Given the description of an element on the screen output the (x, y) to click on. 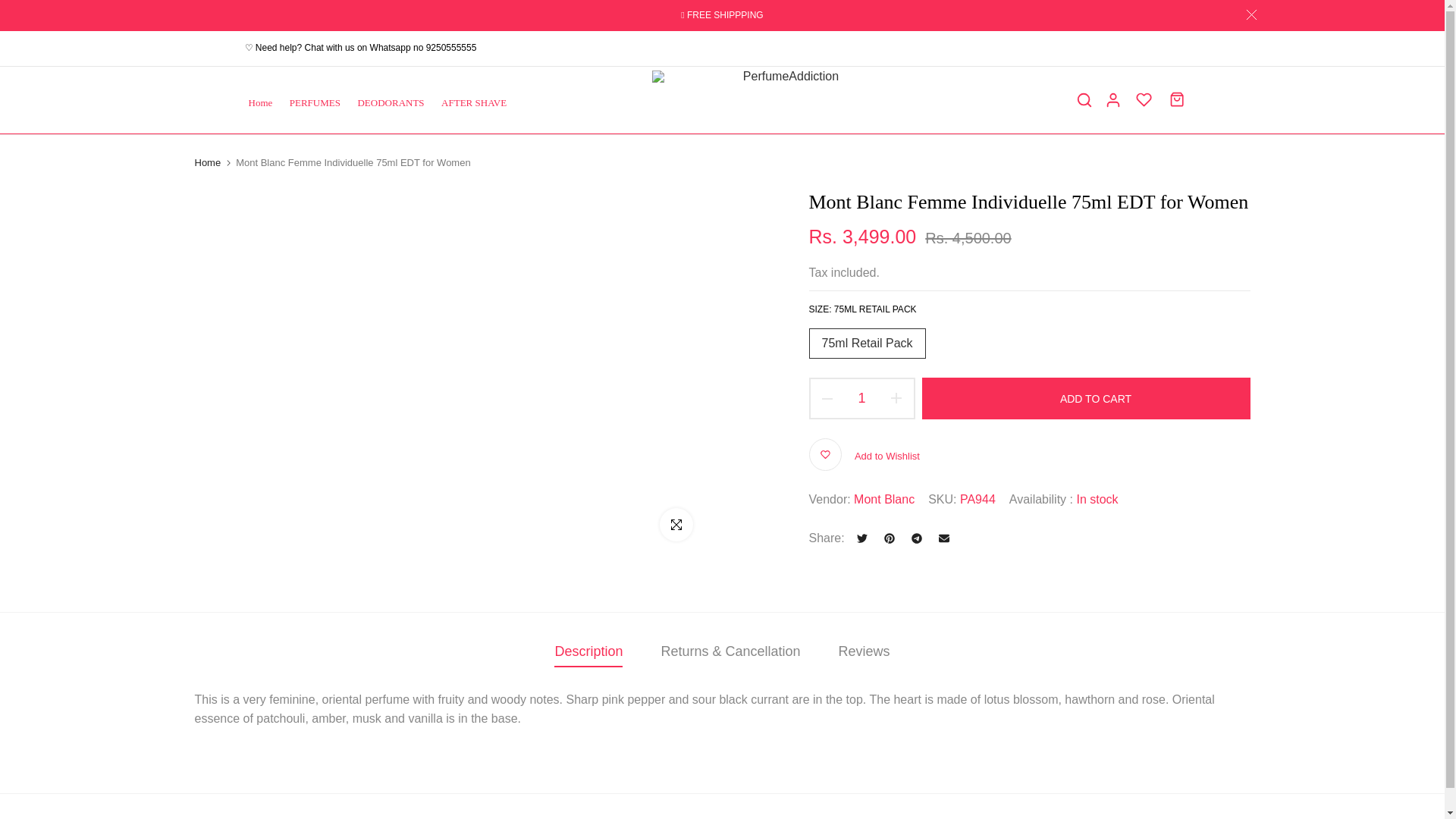
Share on Email (943, 538)
Share on Twitter (861, 538)
Home (264, 102)
close (1250, 14)
Share on Pinterest (889, 538)
Home (207, 162)
ADD TO CART (1085, 398)
Add to Wishlist (863, 454)
Mont Blanc (883, 499)
Share on Telegram (917, 538)
PERFUMES (319, 102)
Skip to content (10, 7)
Reviews (863, 651)
DEODORANTS (395, 102)
AFTER SHAVE (478, 102)
